Given the description of an element on the screen output the (x, y) to click on. 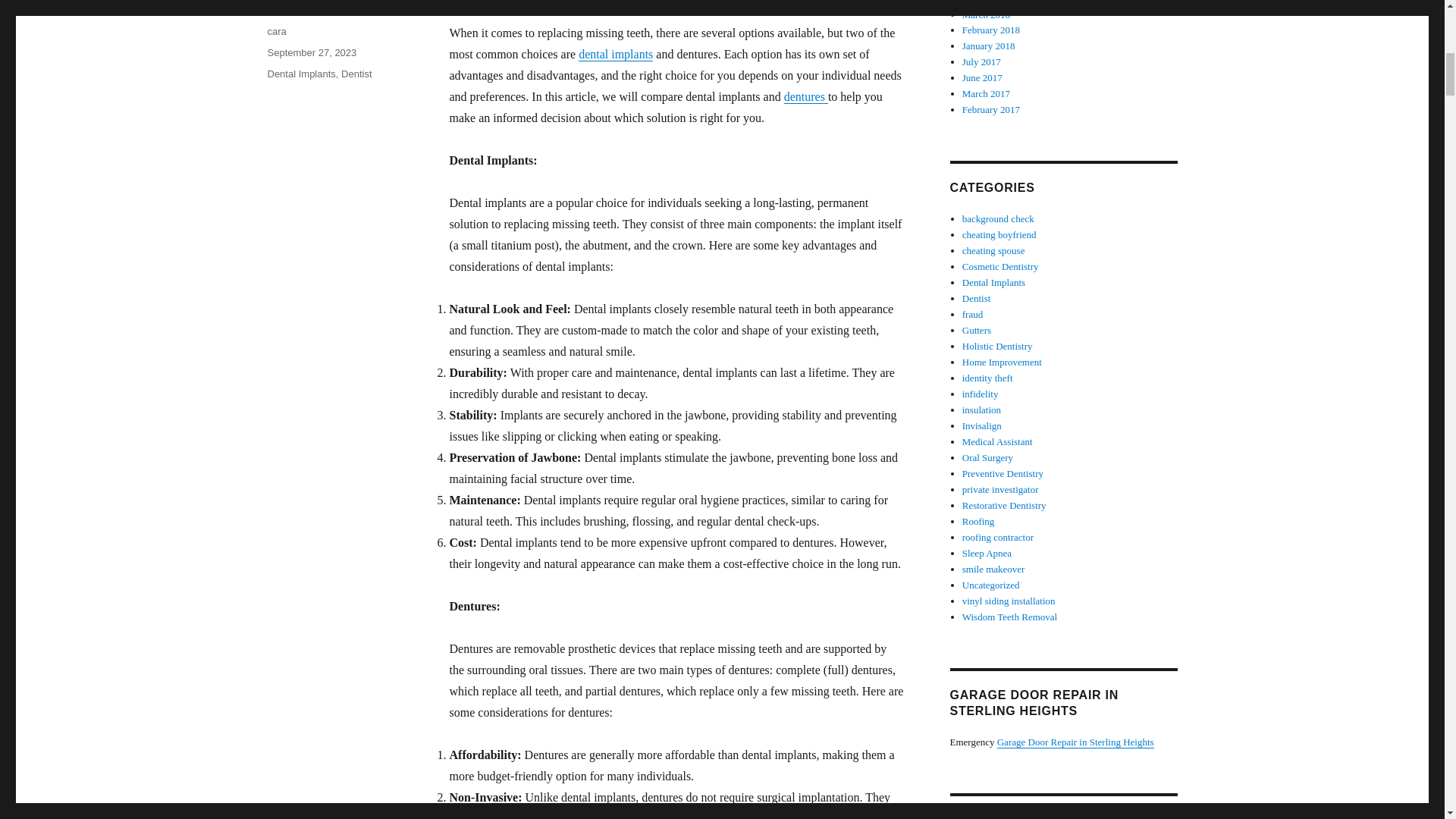
dentures (806, 96)
Dentist (355, 73)
September 27, 2023 (311, 52)
cara (275, 30)
Dental Implants (300, 73)
dental implants (615, 53)
